Given the description of an element on the screen output the (x, y) to click on. 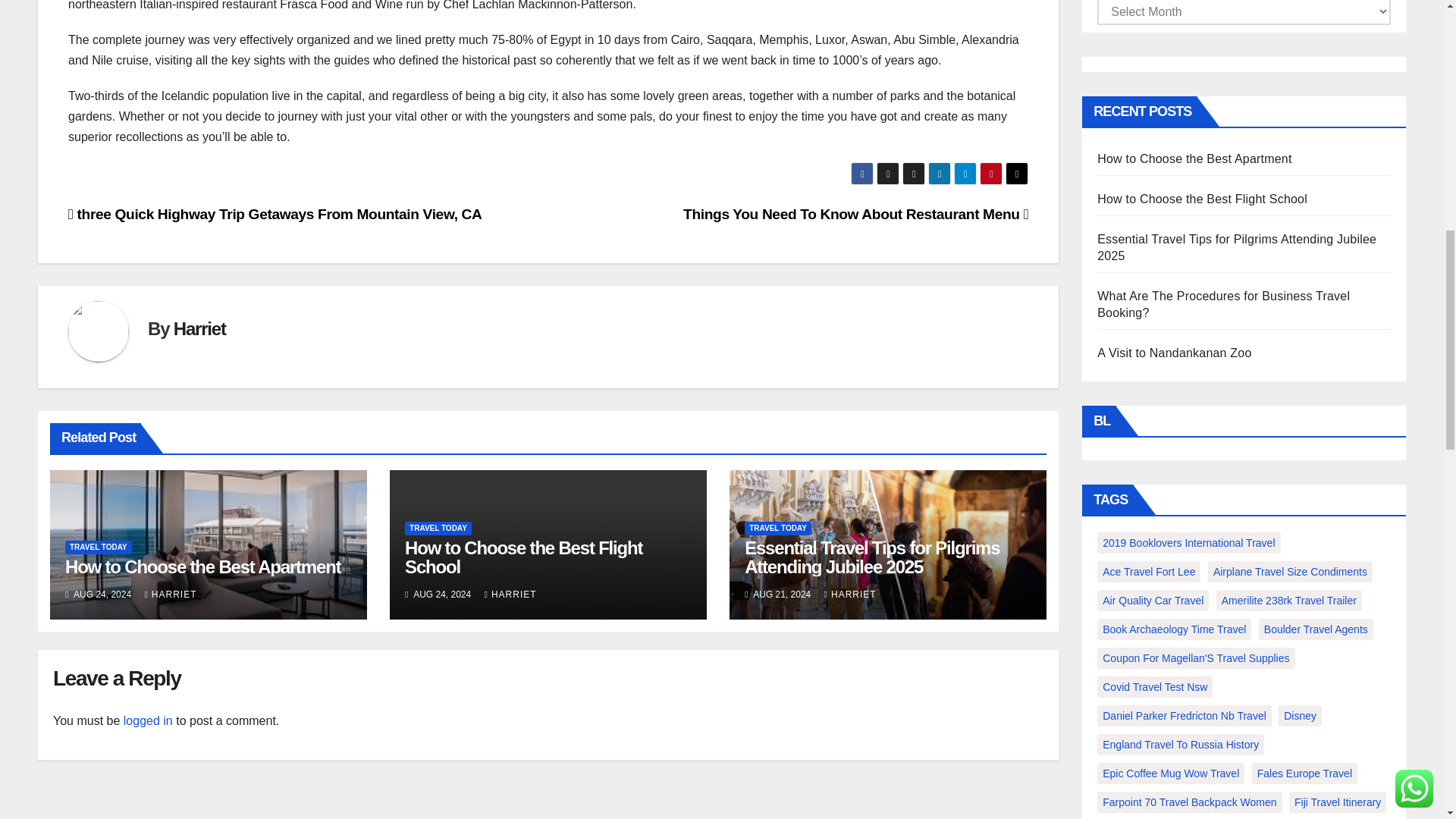
Permalink to: How to Choose the Best Apartment (202, 566)
Things You Need To Know About Restaurant Menu (854, 213)
Permalink to: How to Choose the Best Flight School (523, 557)
three Quick Highway Trip Getaways From Mountain View, CA (274, 213)
